Given the description of an element on the screen output the (x, y) to click on. 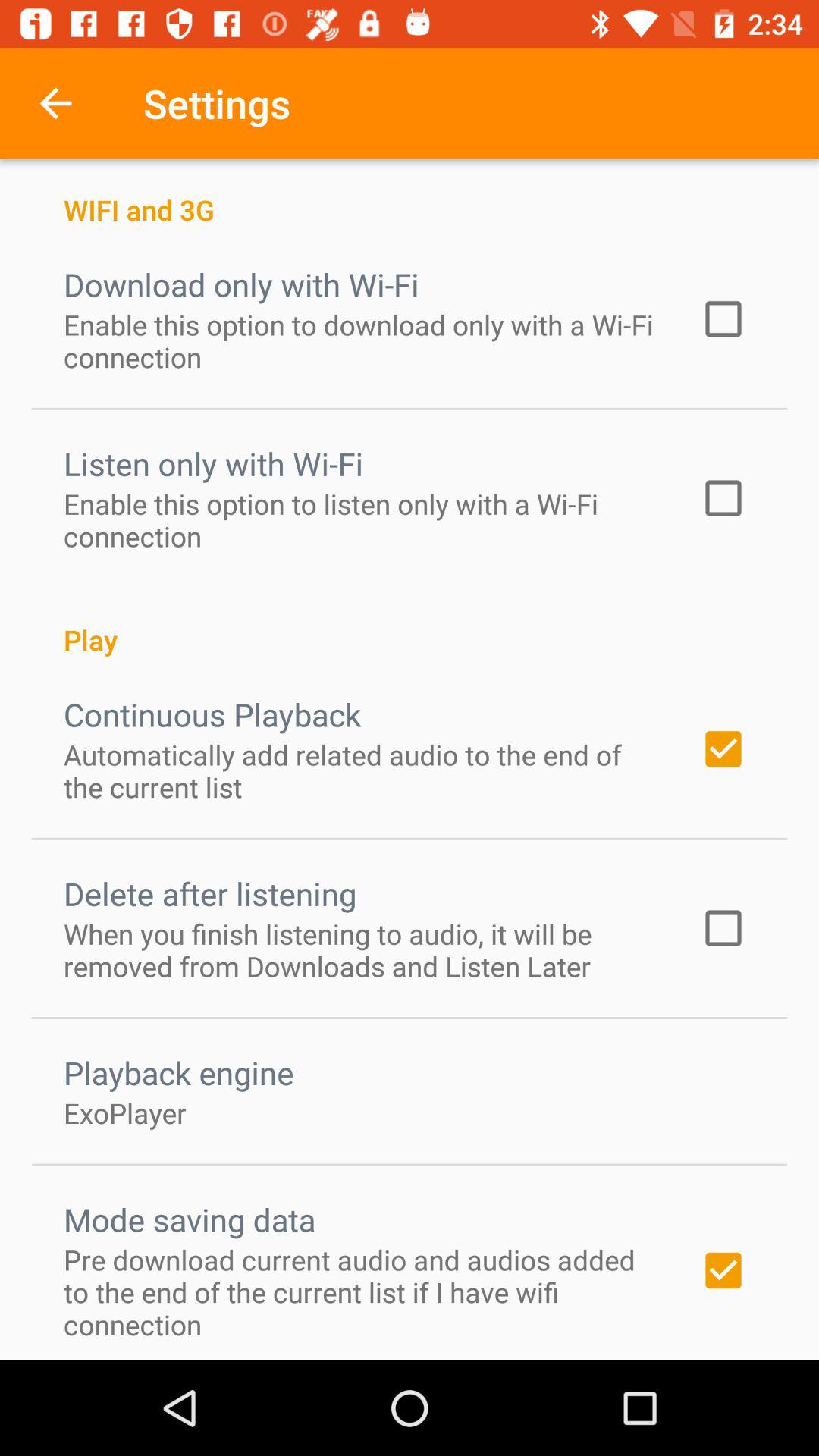
turn off icon above the mode saving data icon (124, 1112)
